Given the description of an element on the screen output the (x, y) to click on. 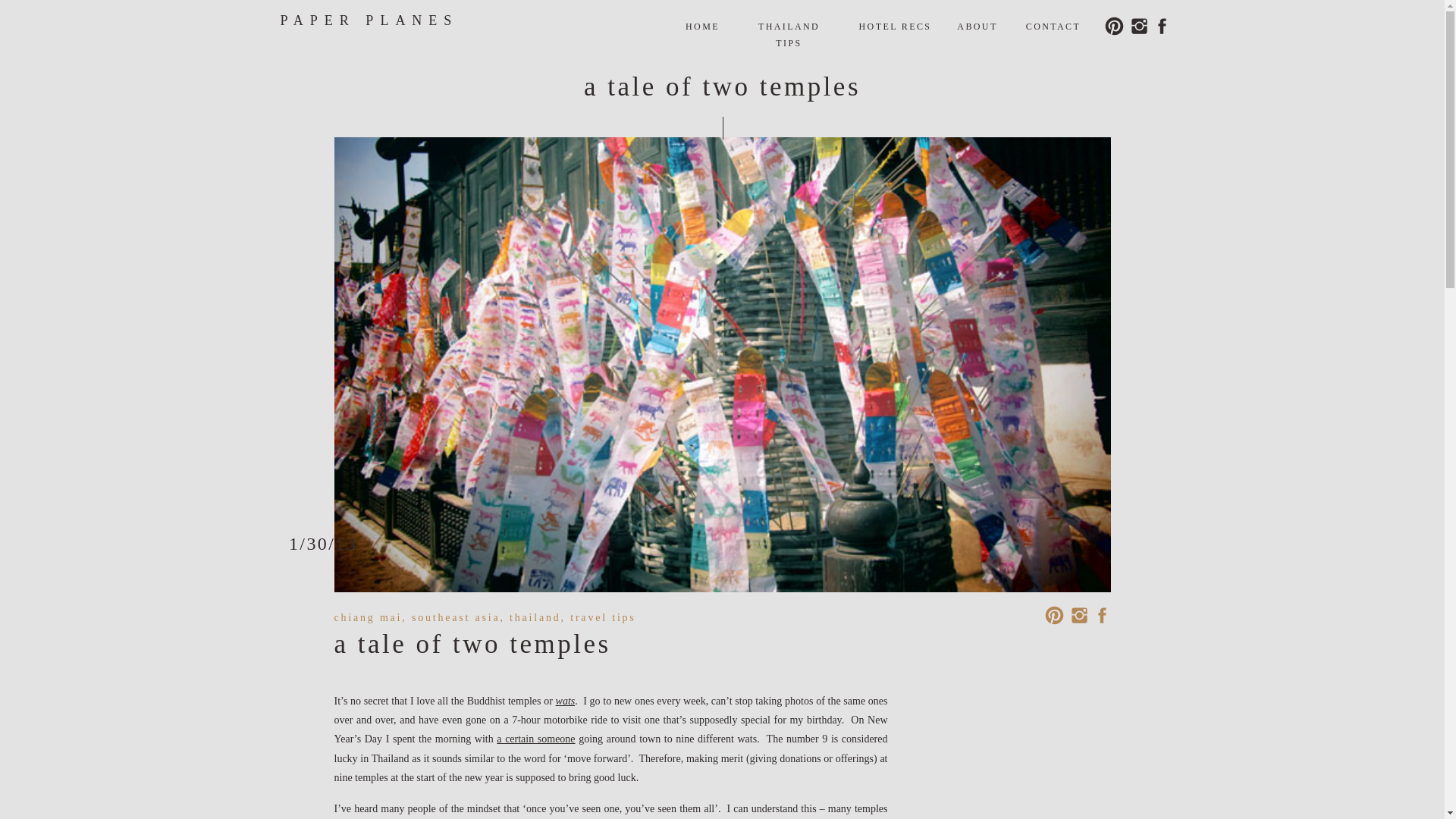
chiang mai (367, 617)
a certain someone (535, 738)
HOME (702, 24)
thailand (534, 617)
ABOUT (976, 25)
CONTACT (1052, 25)
southeast asia (456, 617)
travel tips (602, 617)
wats (565, 700)
THAILAND TIPS (789, 25)
HOTEL RECS (896, 25)
